Given the description of an element on the screen output the (x, y) to click on. 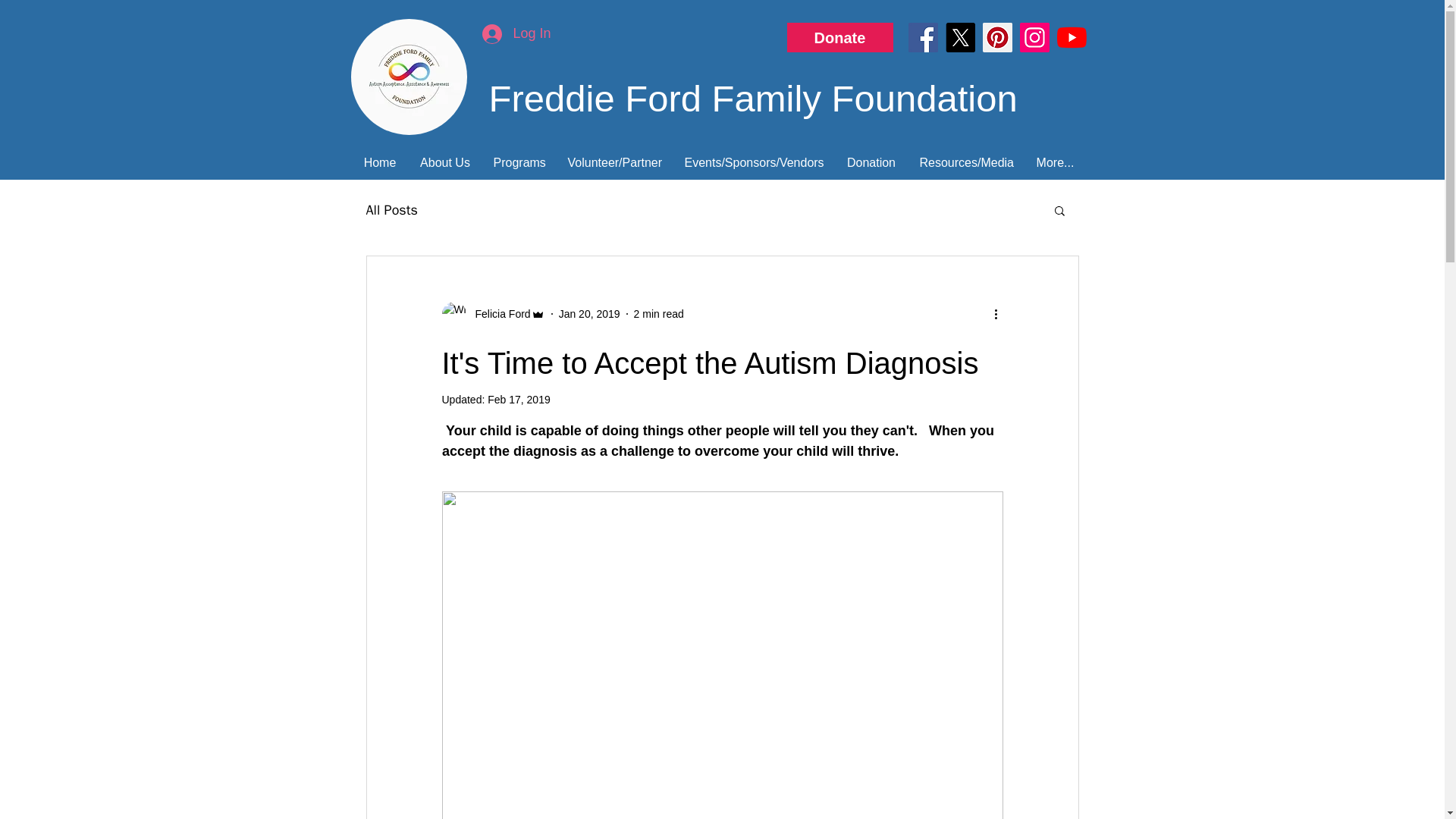
Felicia Ford (497, 314)
Donation (870, 162)
Donate (840, 37)
About Us (444, 162)
All Posts (390, 209)
Home (380, 162)
Programs (518, 162)
2 min read (658, 313)
Felicia Ford (492, 313)
Log In (515, 33)
Feb 17, 2019 (518, 399)
Jan 20, 2019 (589, 313)
